Given the description of an element on the screen output the (x, y) to click on. 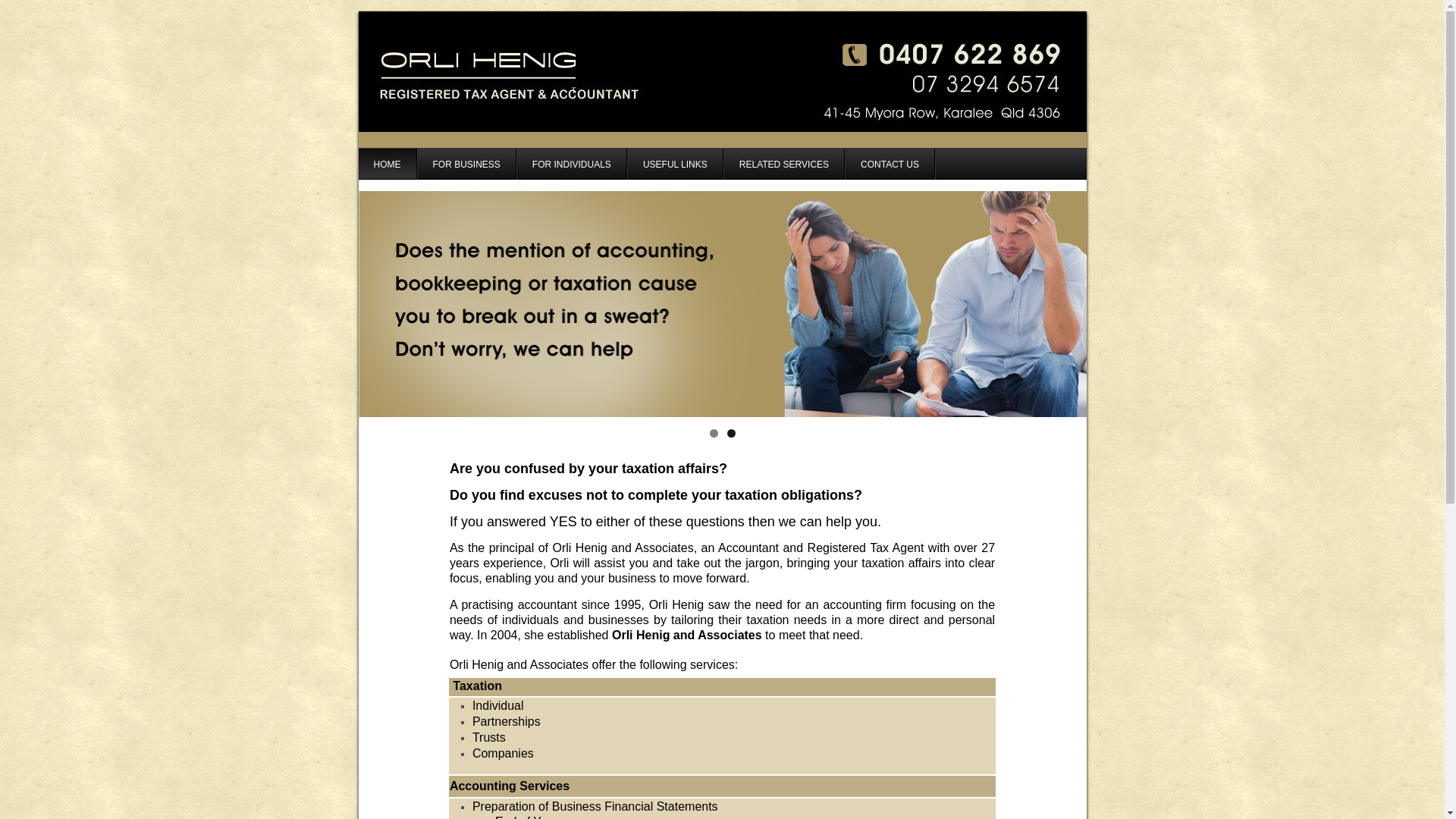
USEFUL LINKS Element type: text (675, 163)
Orli Henig Accountant in Karalee, Brisbane Element type: hover (721, 304)
FOR INDIVIDUALS Element type: text (572, 163)
RELATED SERVICES Element type: text (784, 163)
HOME Element type: text (386, 163)
2 Element type: text (730, 433)
FOR BUSINESS Element type: text (466, 163)
CONTACT US Element type: text (890, 163)
1 Element type: text (713, 433)
